Given the description of an element on the screen output the (x, y) to click on. 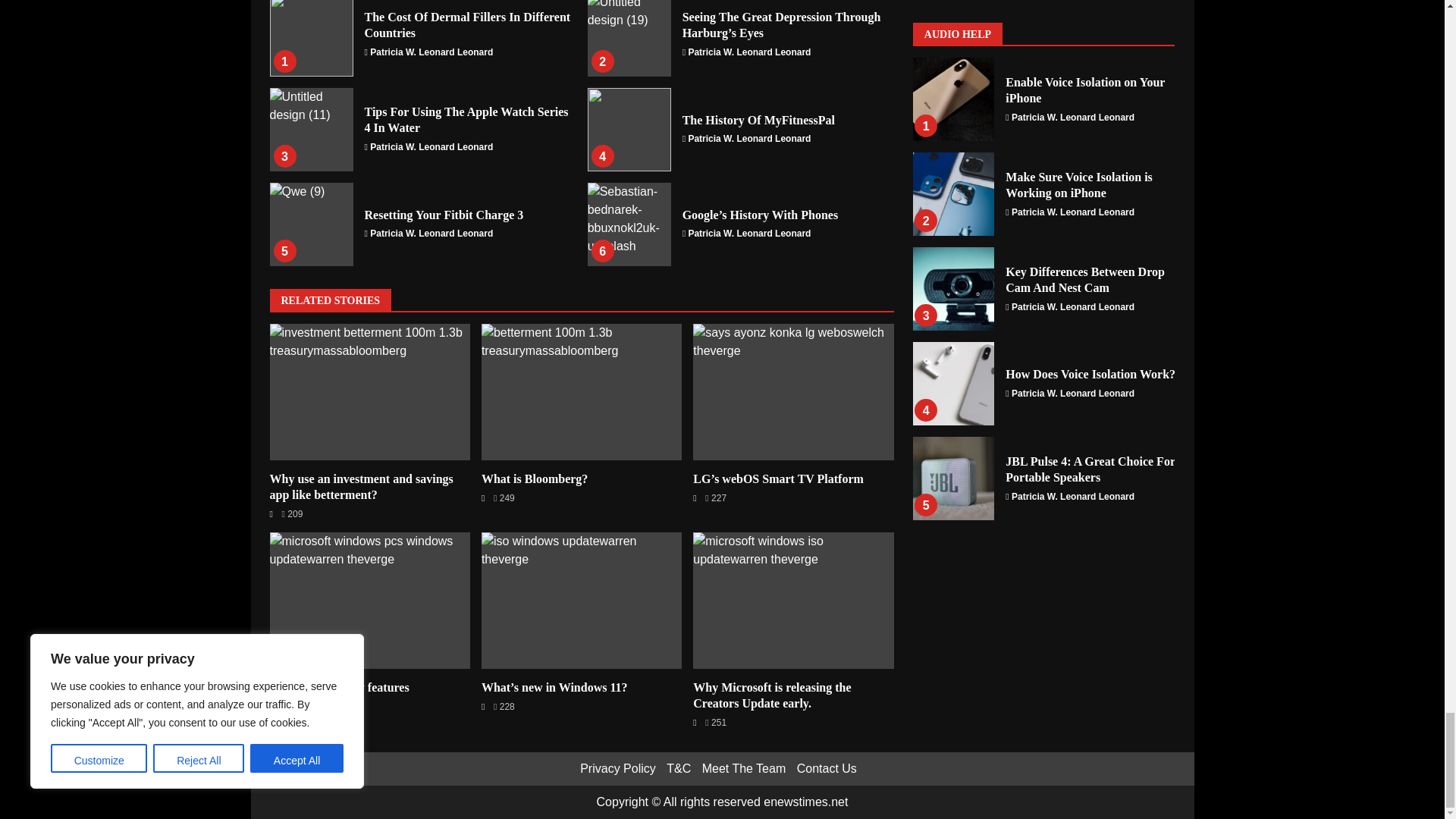
Patricia W. Leonard Leonard (431, 51)
The Cost Of Dermal Fillers In Different Countries (467, 24)
The Cost Of Dermal Fillers In Different Countries (311, 38)
